Given the description of an element on the screen output the (x, y) to click on. 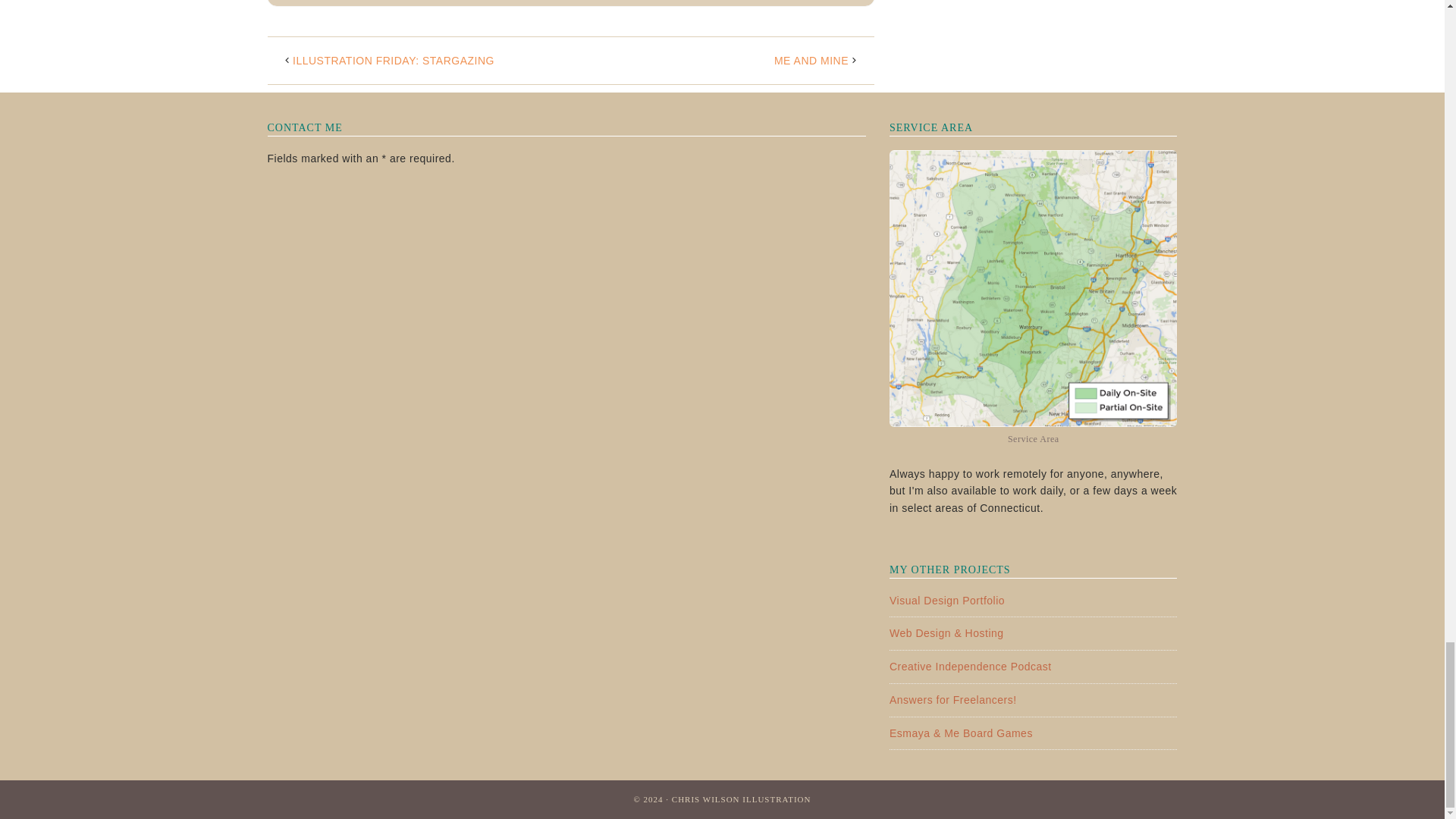
ILLUSTRATION FRIDAY: STARGAZING (393, 60)
ME AND MINE (811, 60)
